Given the description of an element on the screen output the (x, y) to click on. 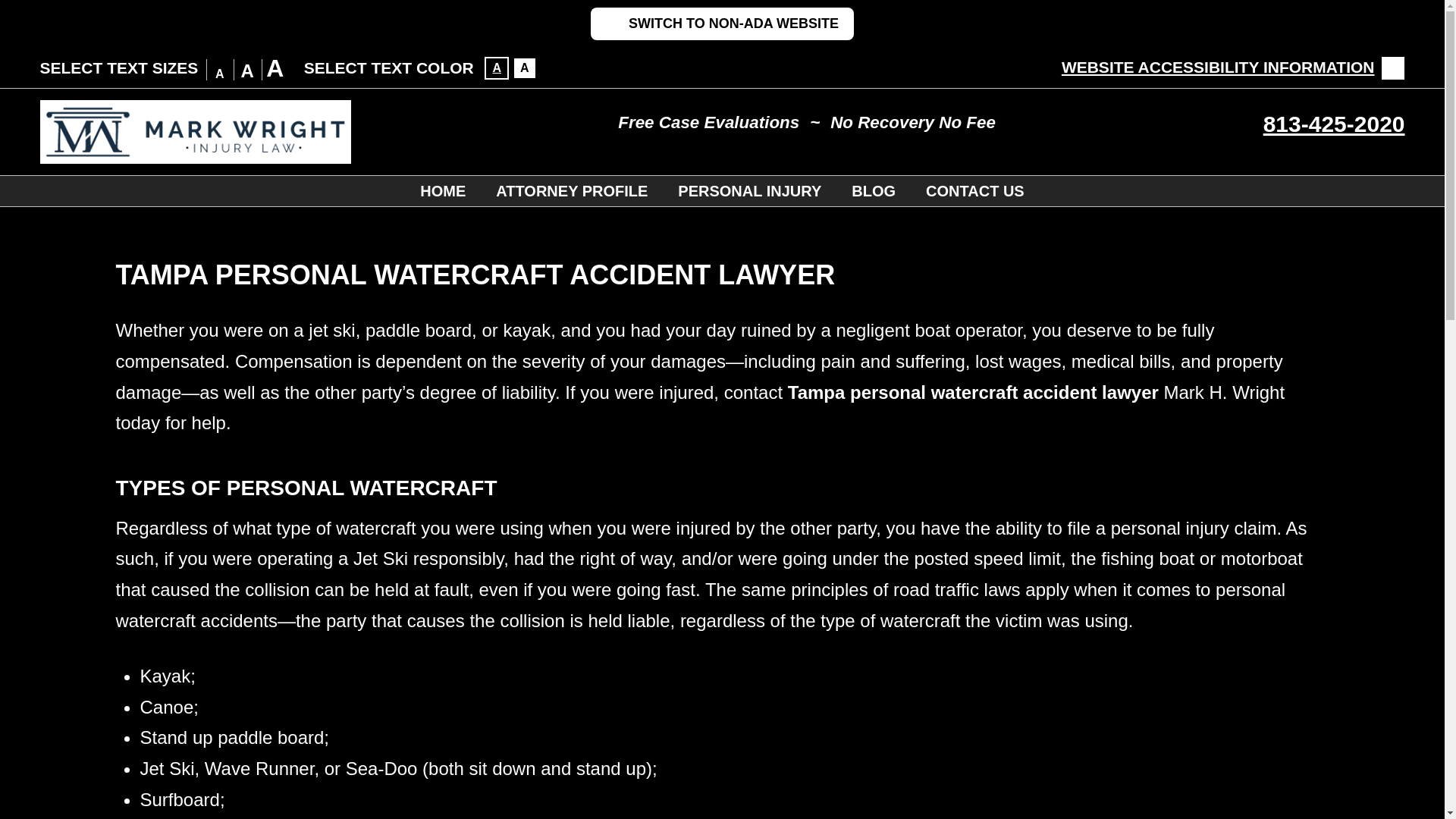
WEBSITE ACCESSIBILITY INFORMATION (1233, 67)
Invert Colors (524, 67)
HOME (442, 191)
A (524, 67)
ATTORNEY PROFILE (571, 191)
Invert Colors (496, 67)
PERSONAL INJURY (748, 191)
A (496, 67)
SWITCH TO NON-ADA WEBSITE (722, 23)
813-425-2020 (1334, 123)
